Given the description of an element on the screen output the (x, y) to click on. 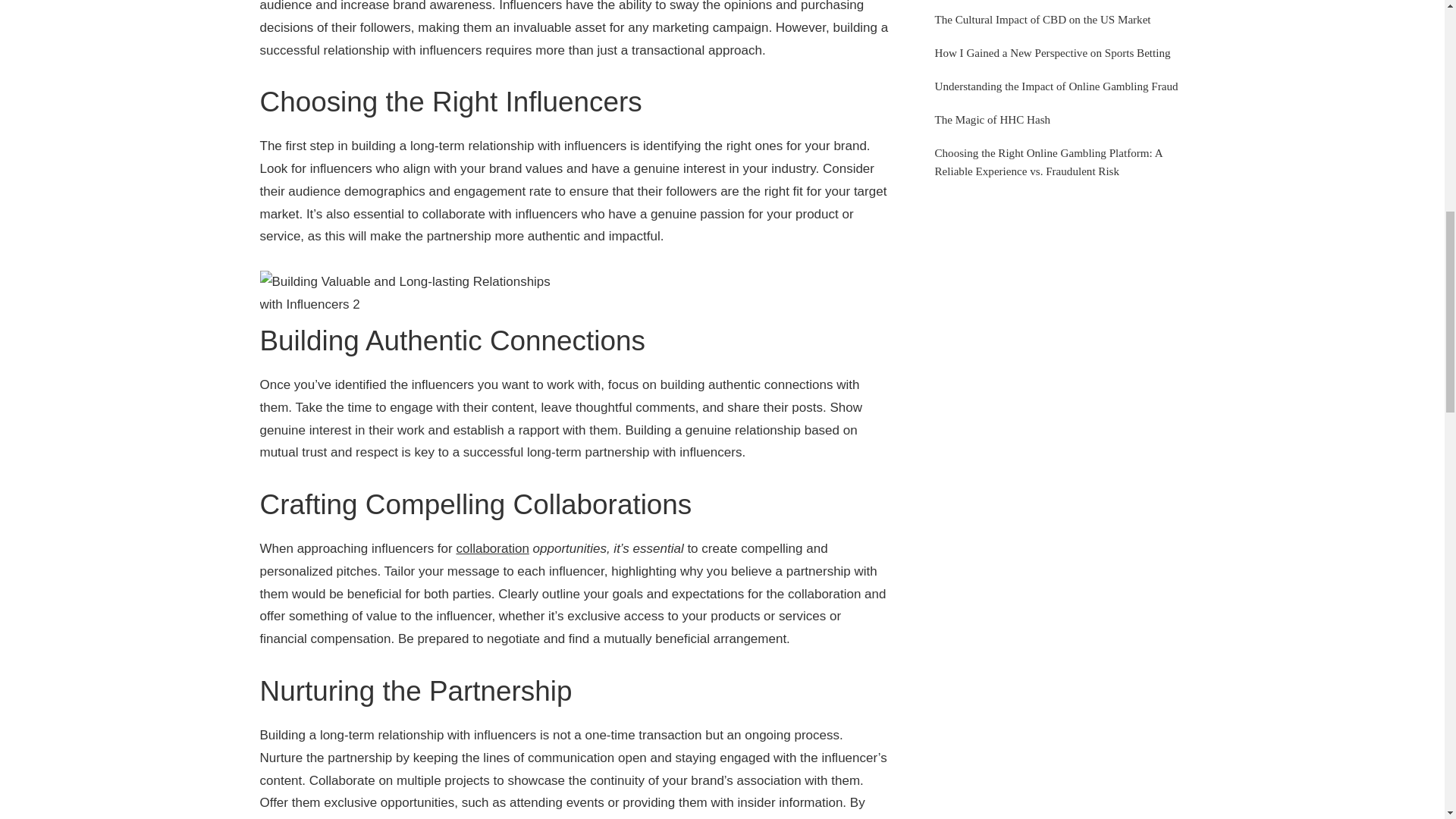
collaboration (491, 548)
